Given the description of an element on the screen output the (x, y) to click on. 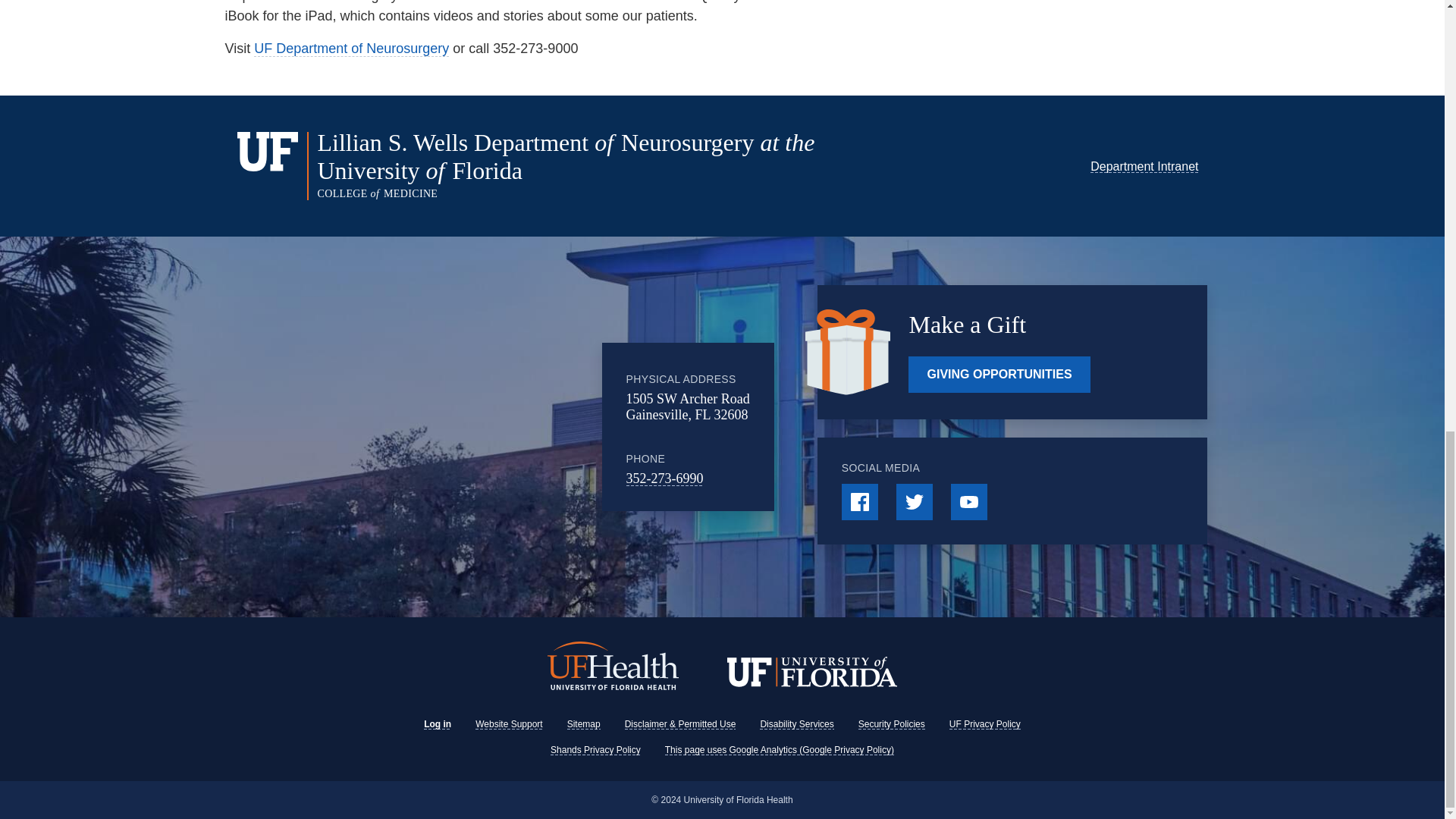
Disability Services (796, 724)
Shands Privacy Policy (595, 749)
Website Support (509, 724)
Google Maps Embed (477, 426)
UF Privacy Policy (984, 724)
352-273-6990 (664, 478)
Department Intranet (1144, 165)
Security Policies (891, 724)
Sitemap (583, 724)
Log in (437, 724)
visit uf nsgy (350, 48)
